Given the description of an element on the screen output the (x, y) to click on. 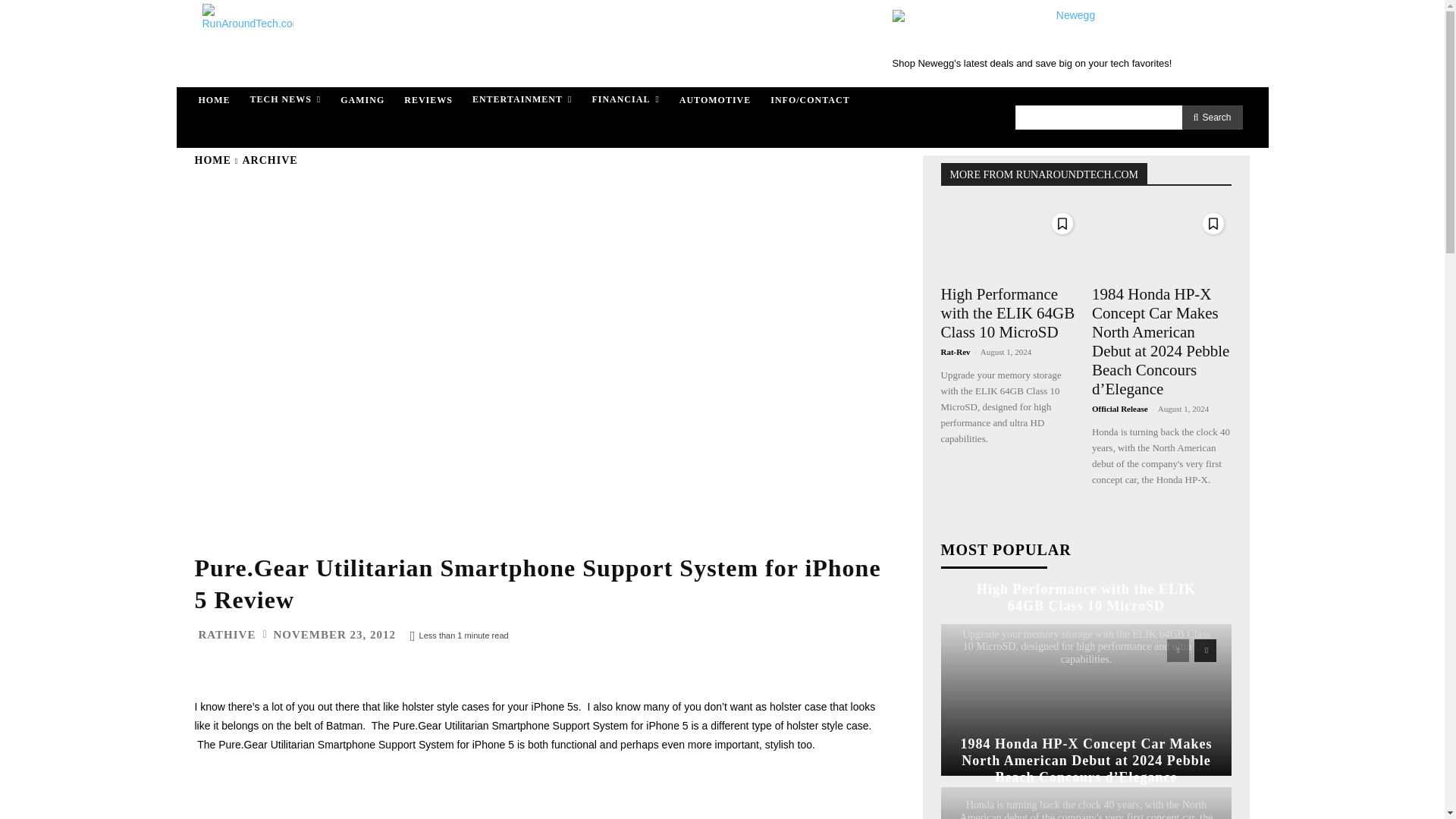
HOME (214, 99)
Search (1212, 117)
View all posts in Archive (270, 160)
ENTERTAINMENT (521, 99)
RunAroundTech.com (244, 43)
FINANCIAL (624, 99)
AUTOMOTIVE (714, 99)
GAMING (362, 99)
REVIEWS (428, 99)
RunAroundTech.com (247, 43)
TECH NEWS (286, 99)
